Given the description of an element on the screen output the (x, y) to click on. 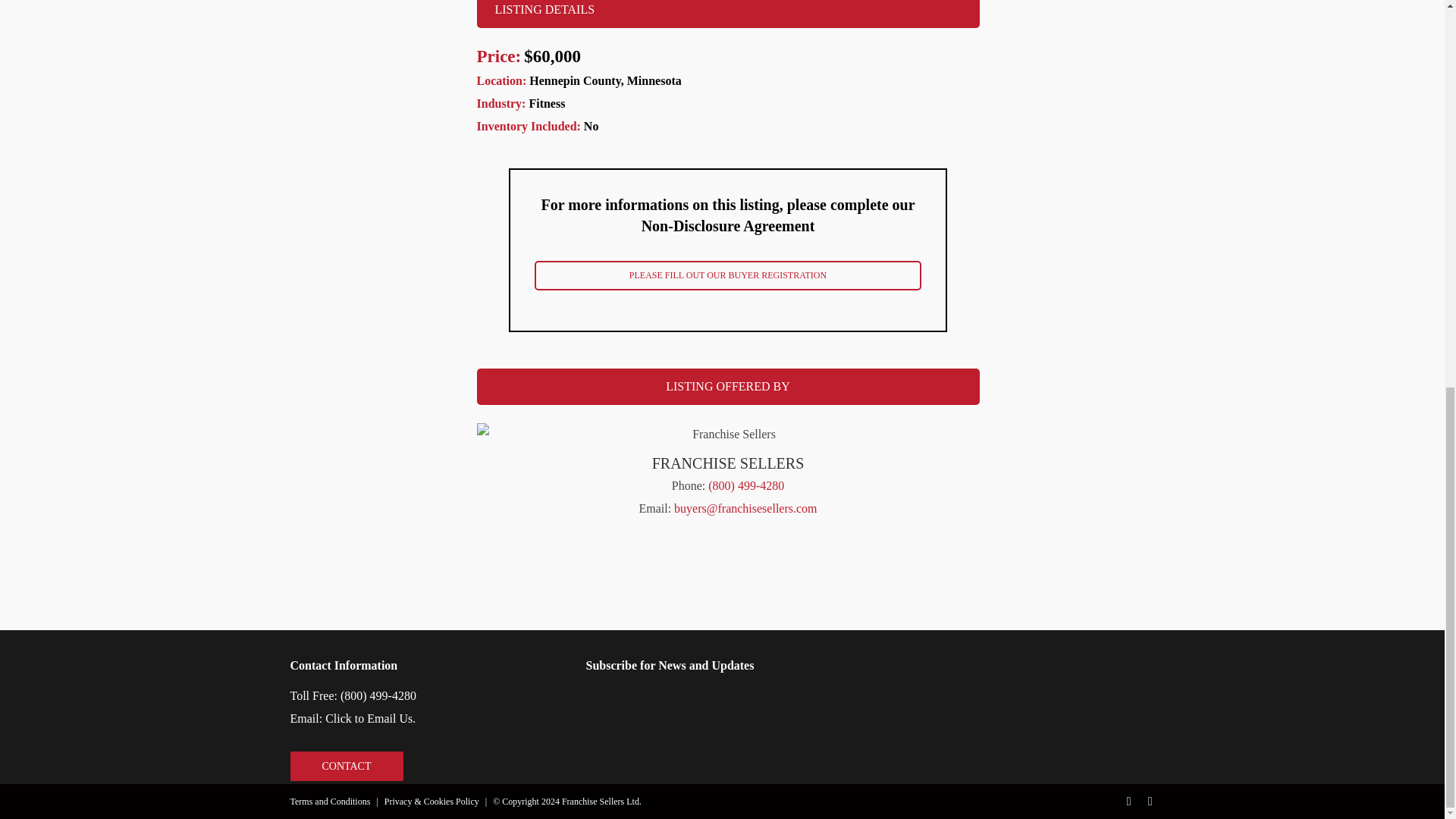
Franchise Sellers (727, 434)
